Given the description of an element on the screen output the (x, y) to click on. 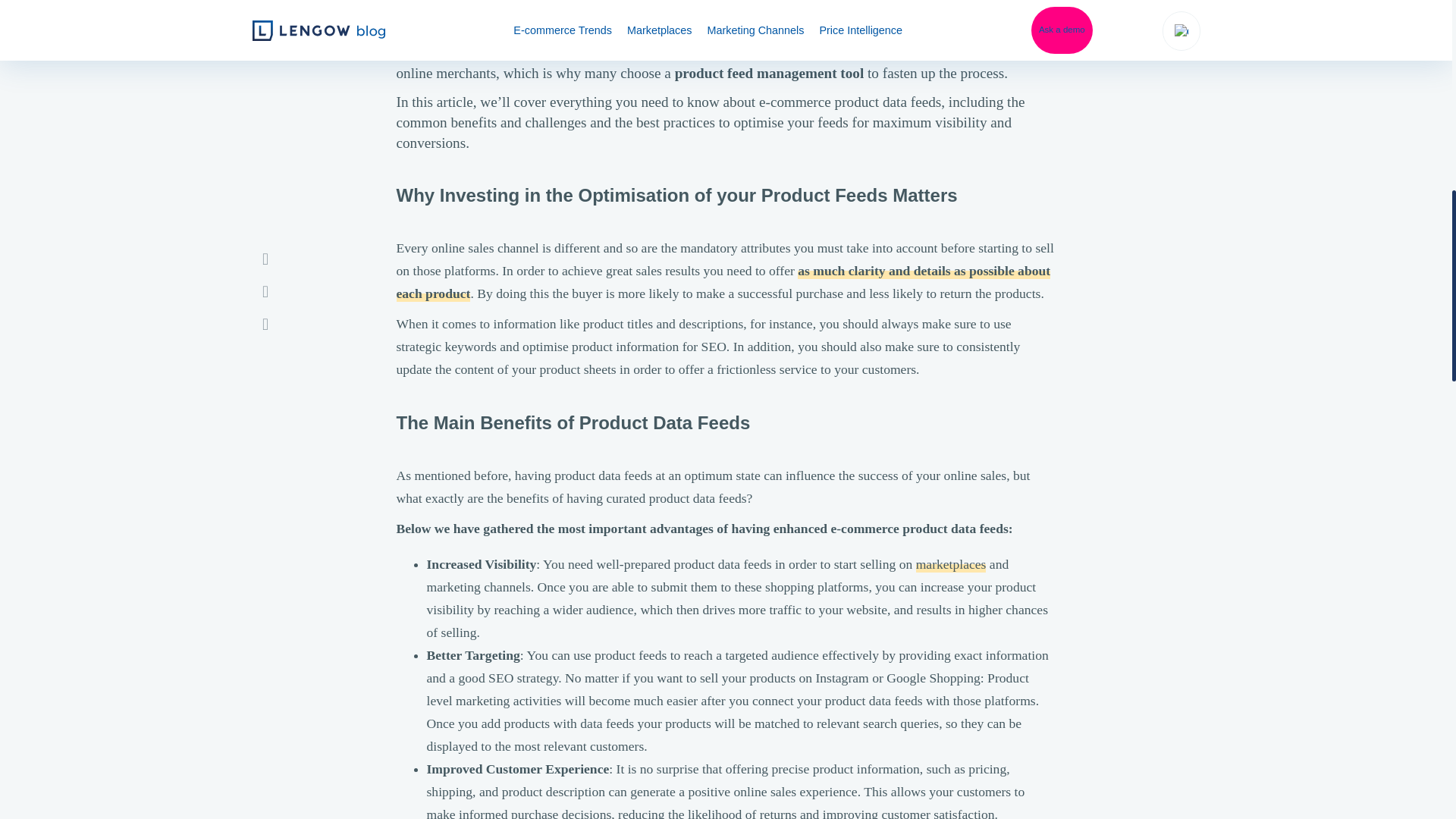
as much clarity and details as possible about each product (722, 282)
marketplaces (951, 564)
